Given the description of an element on the screen output the (x, y) to click on. 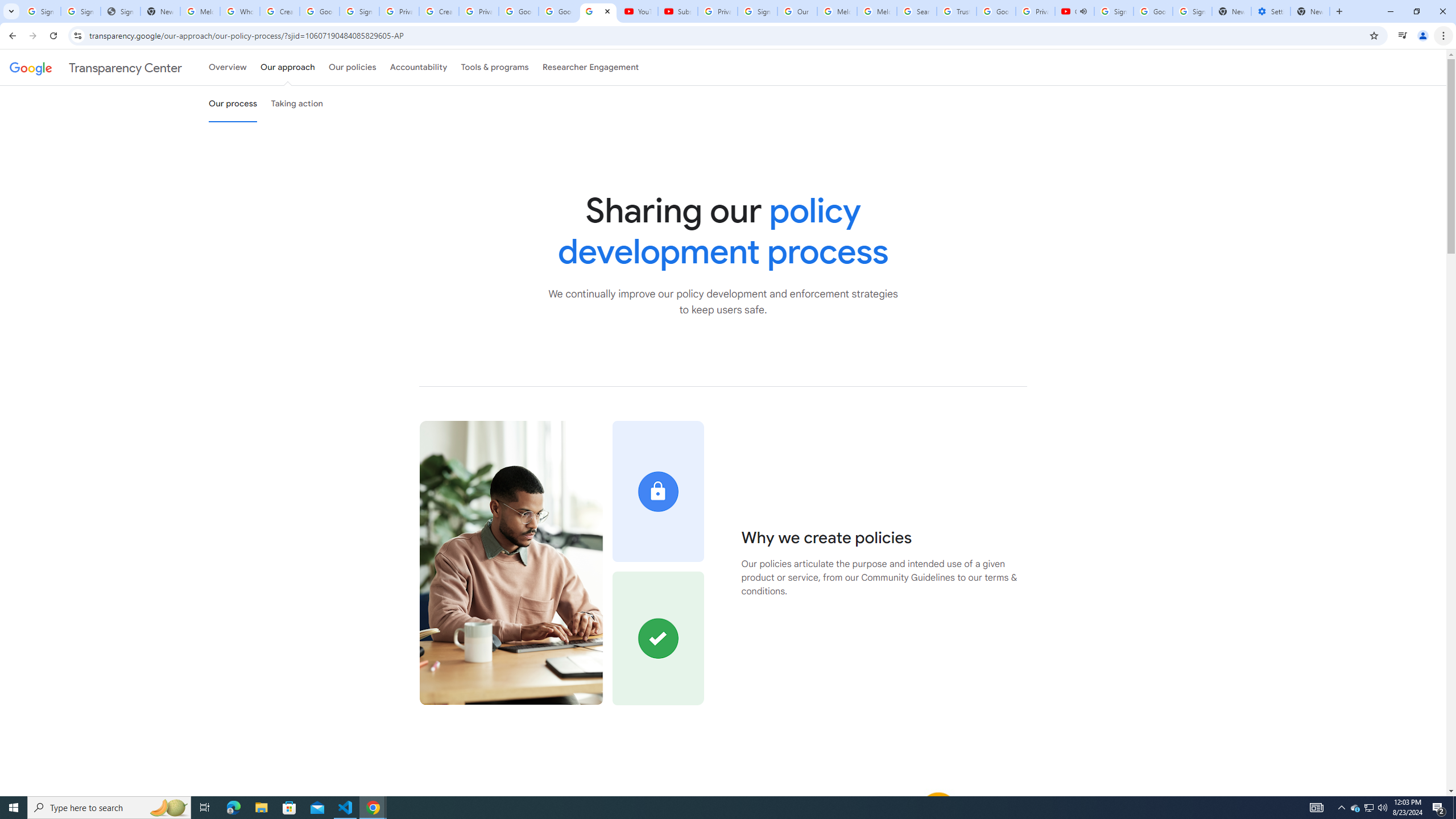
Sign in - Google Accounts (80, 11)
Accountability (418, 67)
Tools & programs (494, 67)
YouTube (637, 11)
New Tab (1310, 11)
